Given the description of an element on the screen output the (x, y) to click on. 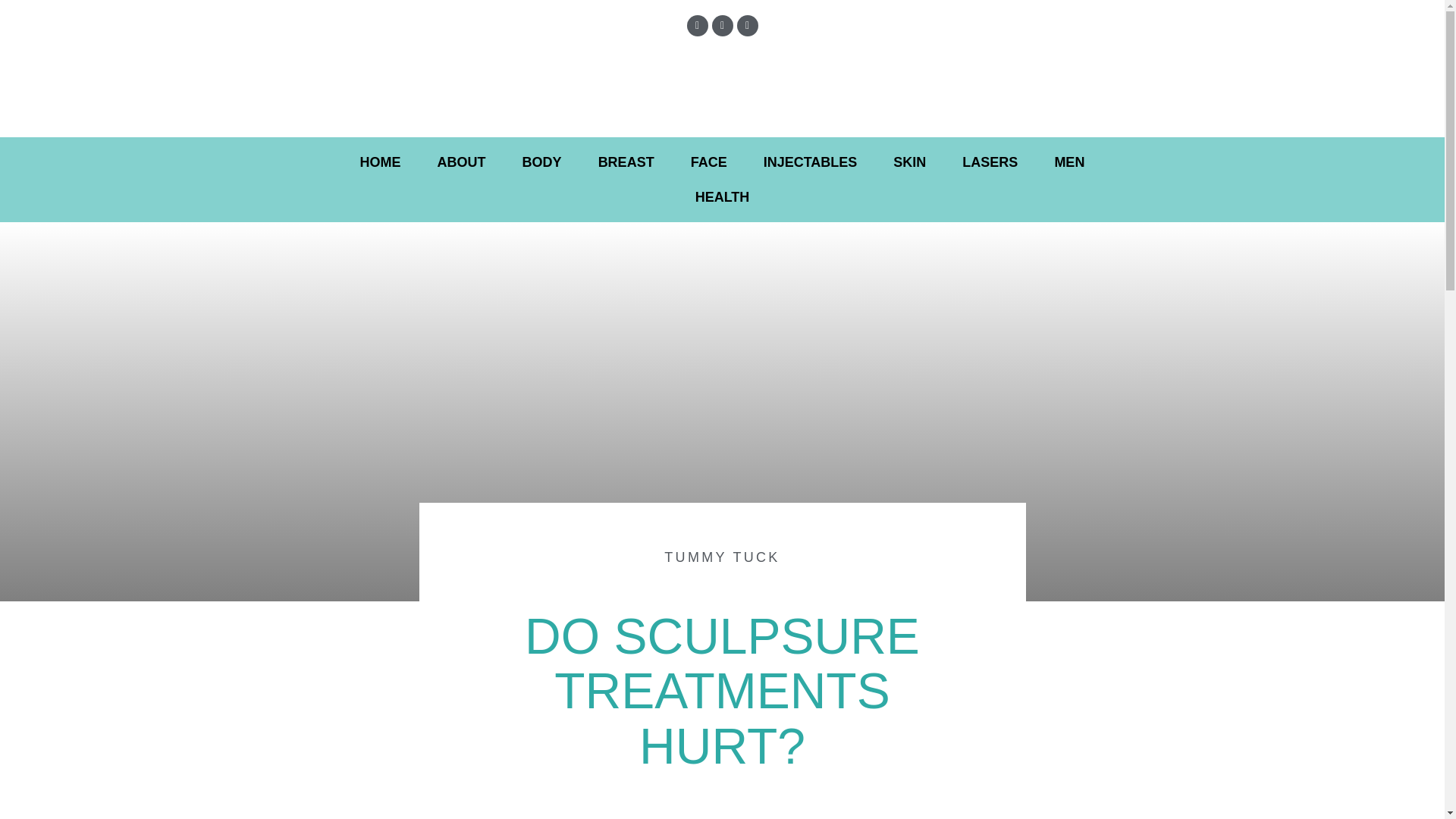
SKIN (909, 161)
FACE (708, 161)
HOME (380, 161)
INJECTABLES (810, 161)
BODY (541, 161)
Facebook (697, 25)
Twitter (721, 25)
Rss (747, 25)
BREAST (625, 161)
ABOUT (461, 161)
